Given the description of an element on the screen output the (x, y) to click on. 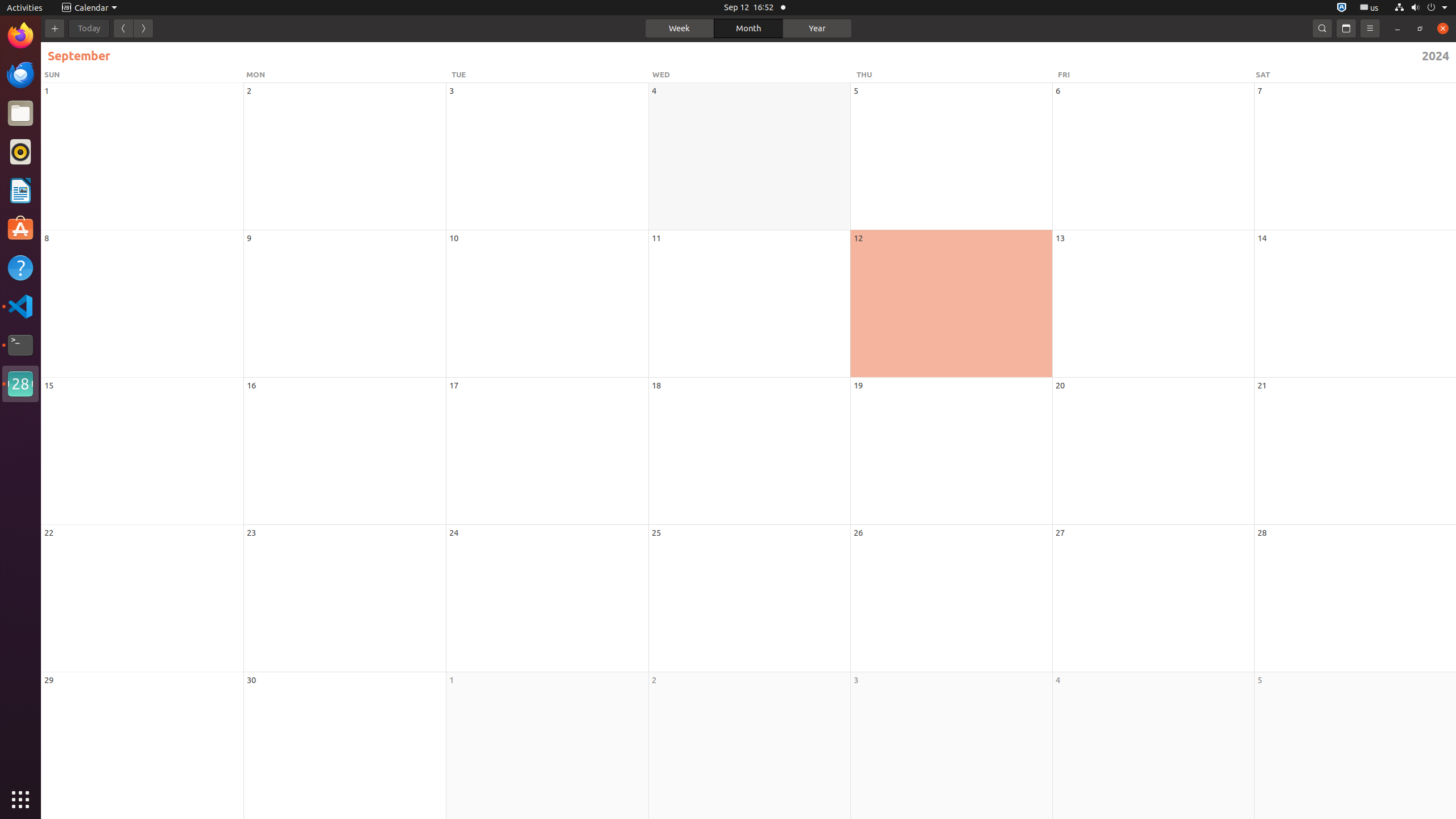
14 Element type: label (1261, 237)
luyi1 Element type: label (75, 50)
3 Element type: label (855, 679)
7 Element type: label (1259, 90)
